Given the description of an element on the screen output the (x, y) to click on. 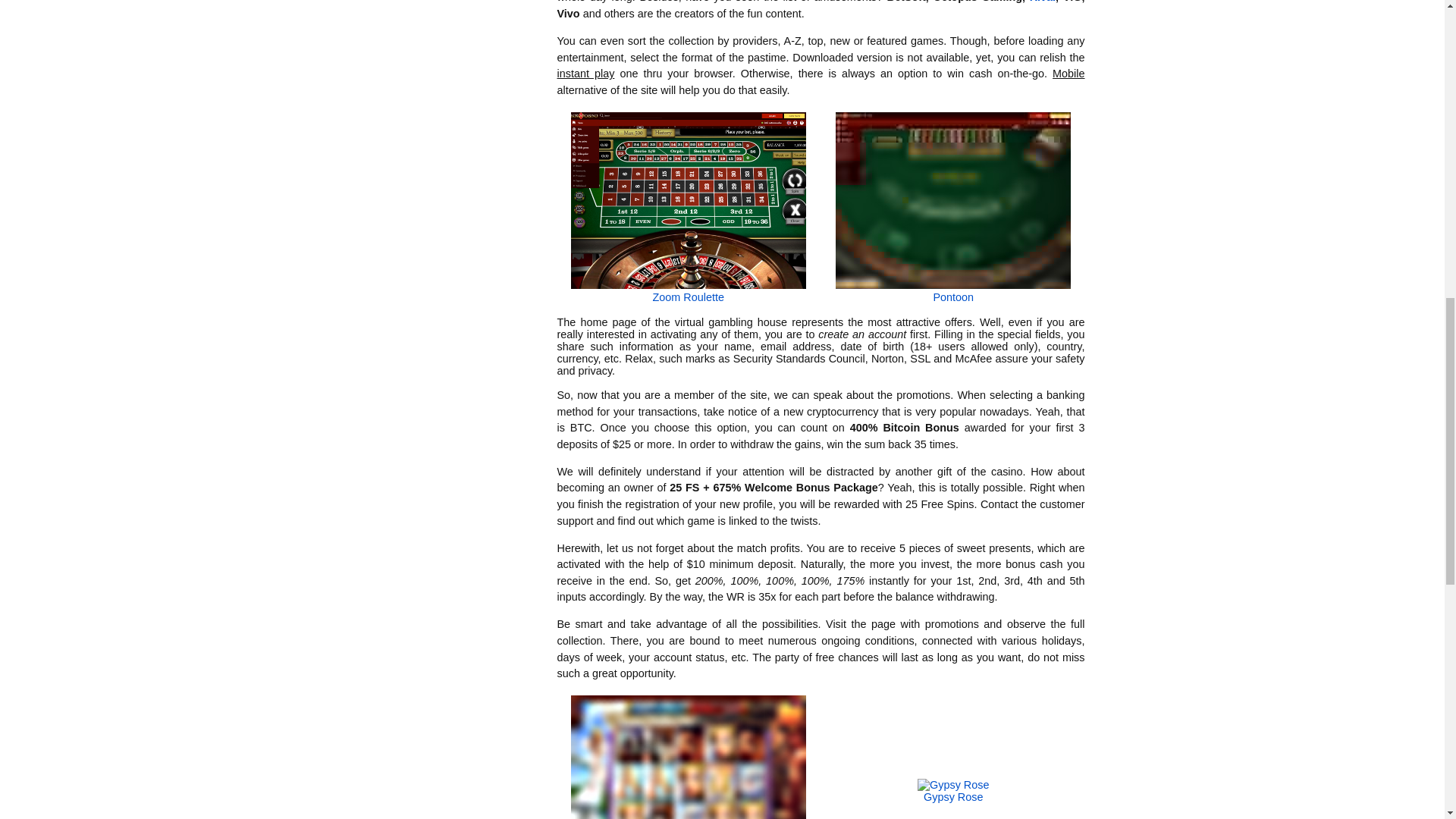
Rival Casino Reviews (1042, 1)
